Given the description of an element on the screen output the (x, y) to click on. 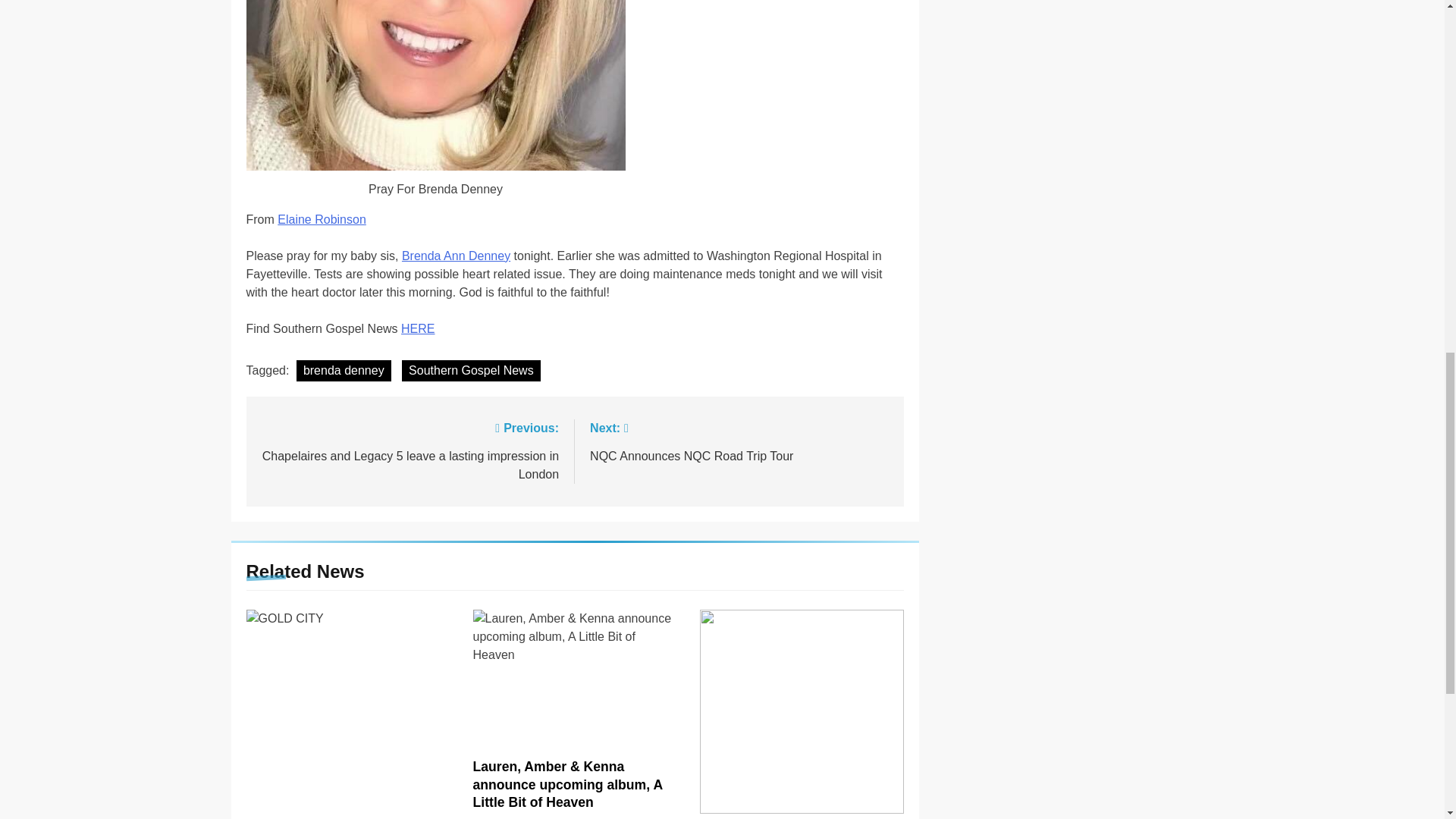
Southern Gospel News (470, 370)
Elaine Robinson (738, 440)
HERE (322, 219)
Brenda Ann Denney (417, 328)
brenda denney (456, 255)
